Given the description of an element on the screen output the (x, y) to click on. 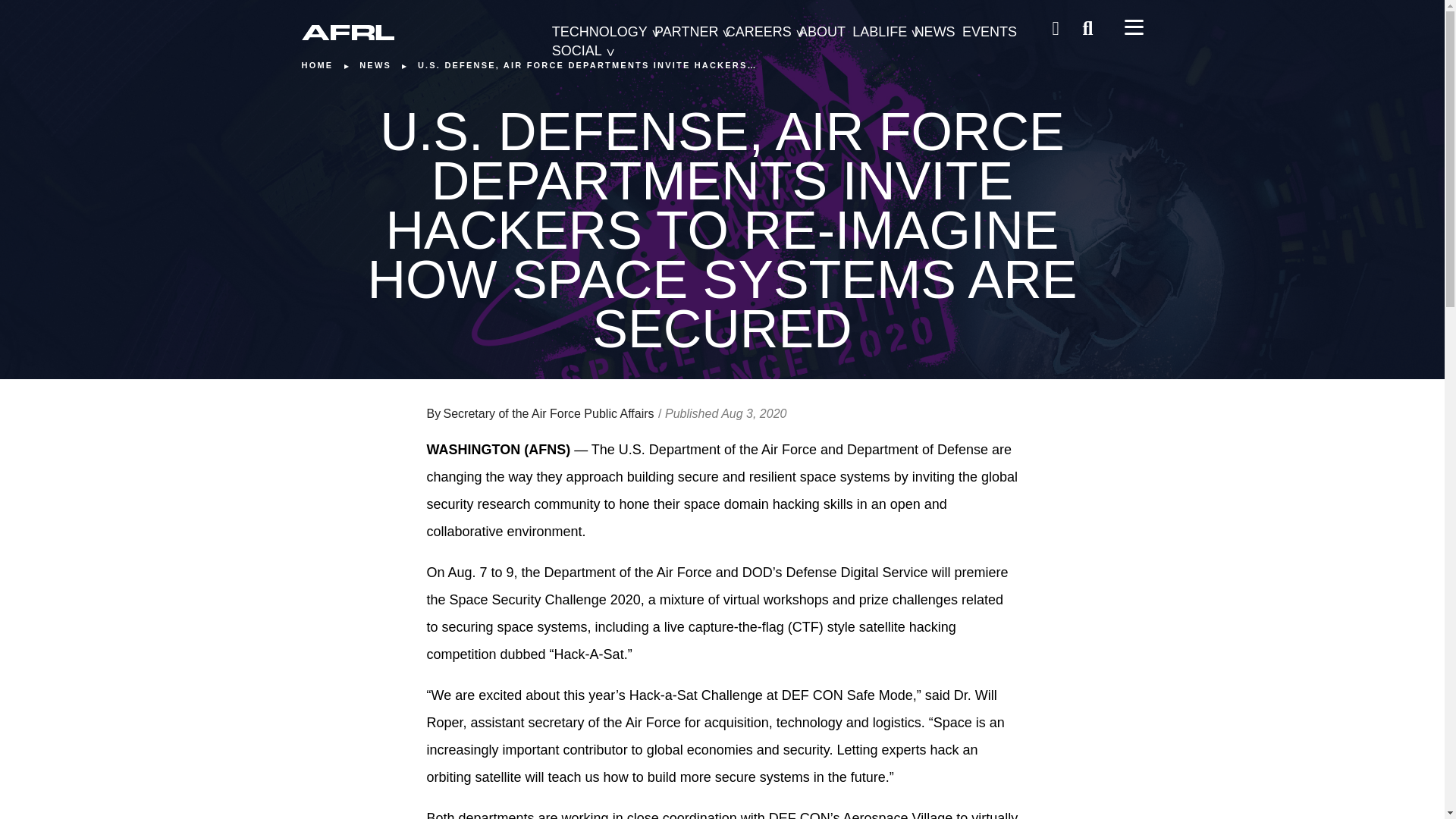
ABOUT (821, 31)
LABLIFE (879, 31)
TECHNOLOGY (599, 31)
CAREERS (758, 31)
Air Force Research Laboratory Navigation (1133, 26)
PARTNER (685, 31)
